Given the description of an element on the screen output the (x, y) to click on. 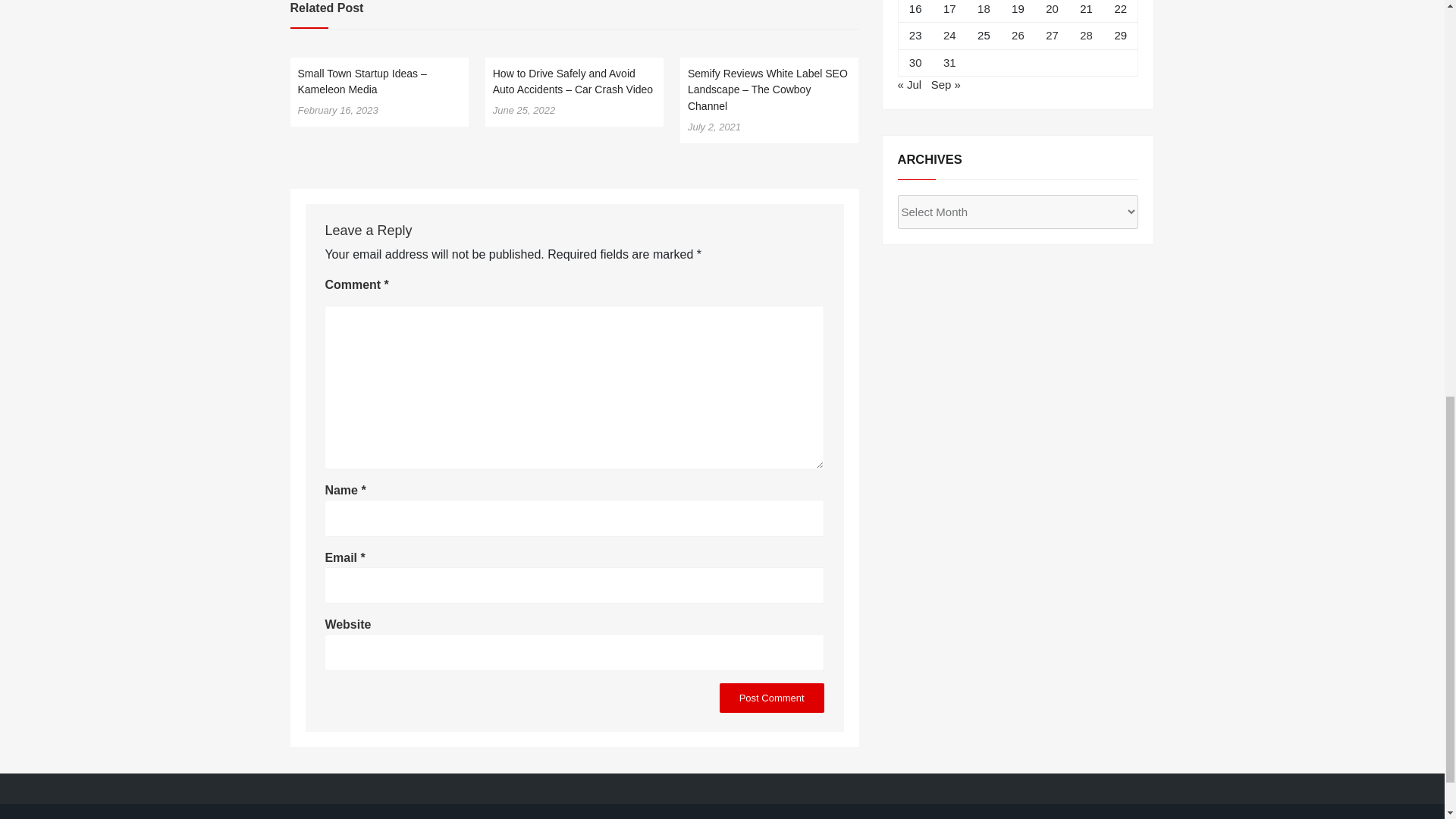
18 (983, 8)
Post Comment (771, 696)
20 (1051, 8)
Post Comment (771, 696)
